Given the description of an element on the screen output the (x, y) to click on. 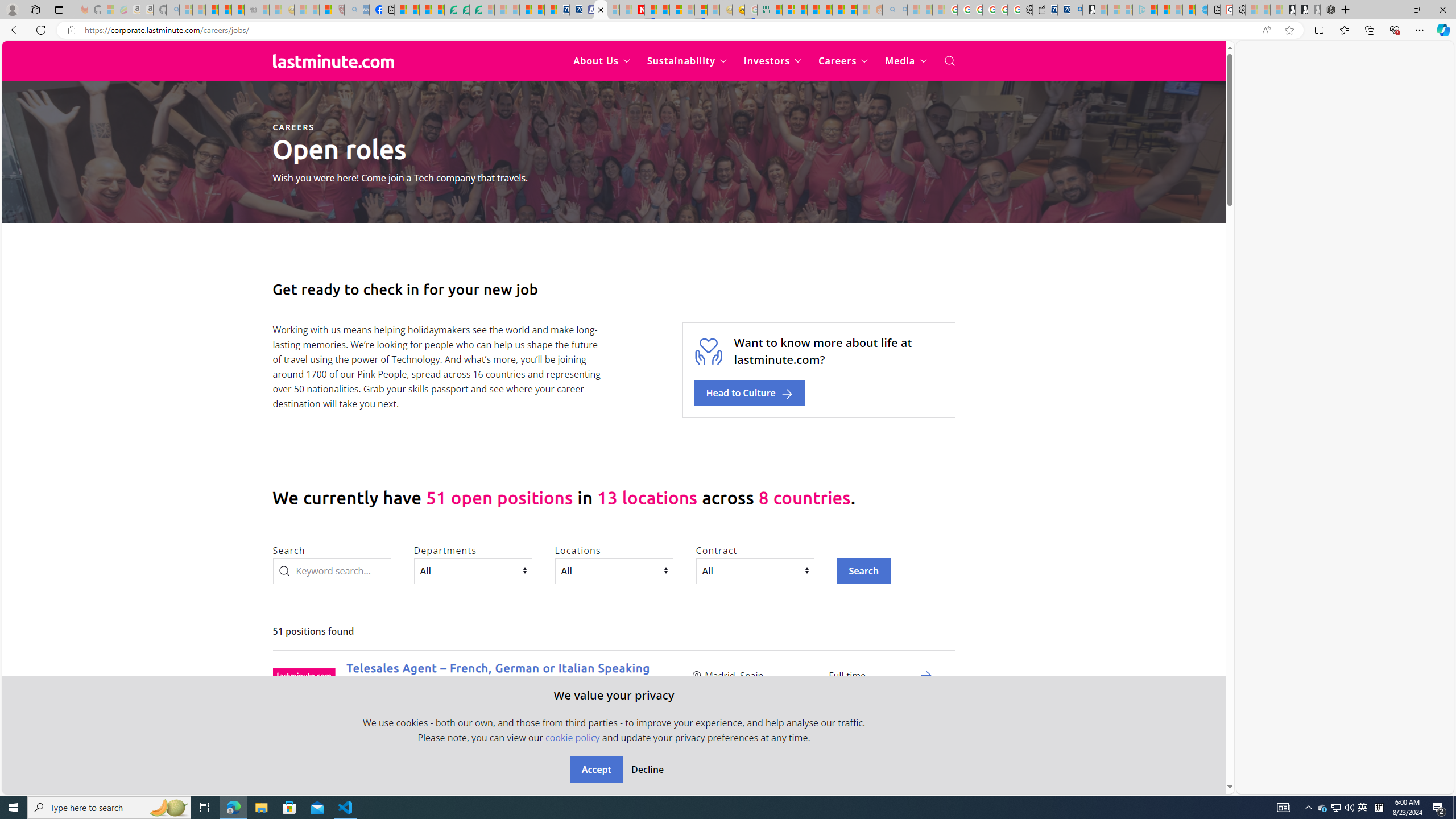
Refresh (40, 29)
Careers (842, 60)
Wallet (1038, 9)
Close (1442, 9)
Microsoft Start (1150, 9)
Investors (773, 60)
About Us (601, 60)
About Us (601, 60)
Address and search bar (669, 29)
